Given the description of an element on the screen output the (x, y) to click on. 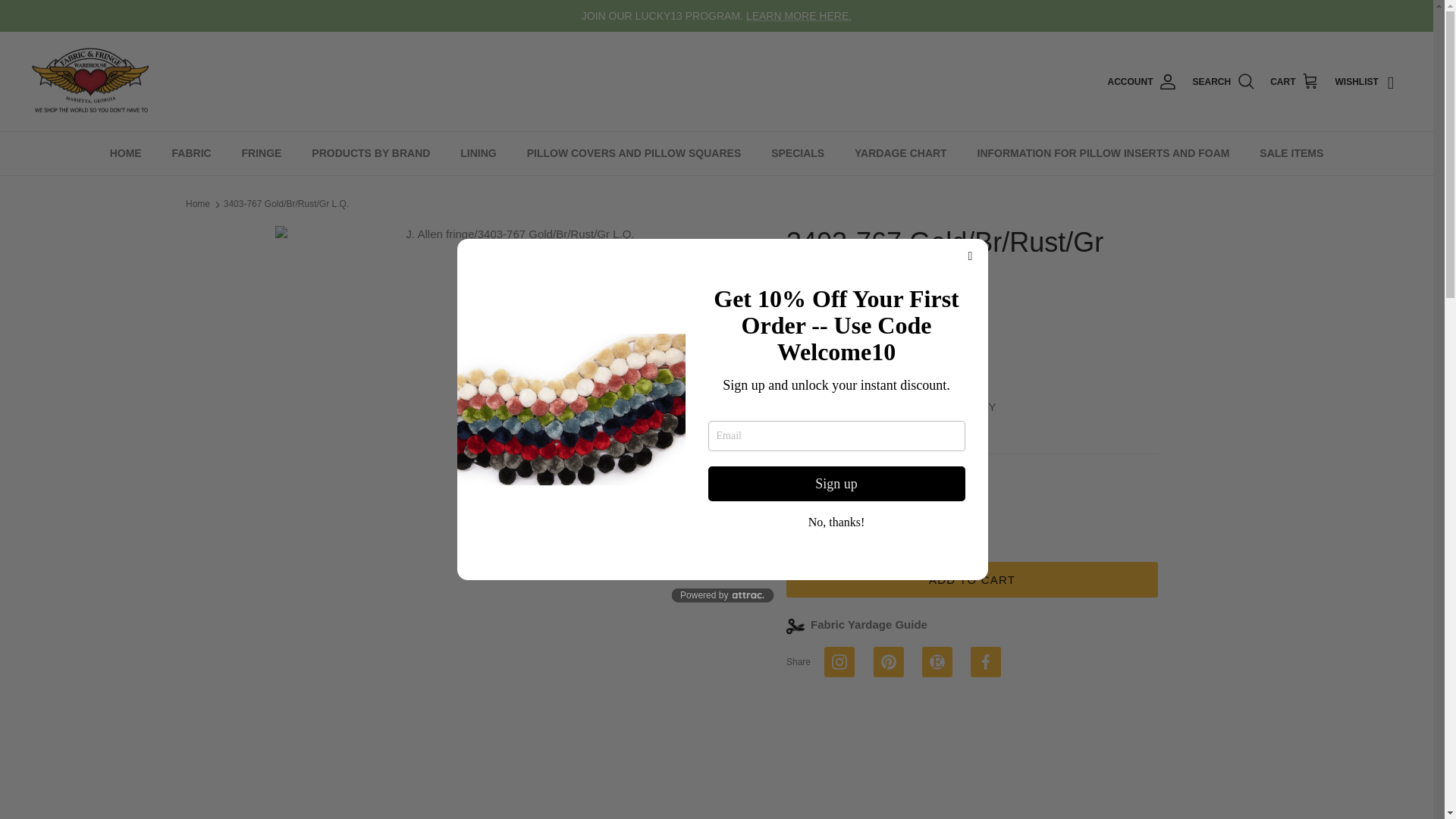
Minus (803, 514)
Fabric and Fringe Warehouse (90, 81)
SEARCH (1223, 81)
FABRIC (191, 153)
HOME (125, 153)
Lucky 13 Program (798, 15)
Plus (892, 514)
1 (847, 513)
CART (1294, 81)
LEARN MORE HERE. (798, 15)
ACCOUNT (1141, 81)
WISHLIST (1369, 81)
